Given the description of an element on the screen output the (x, y) to click on. 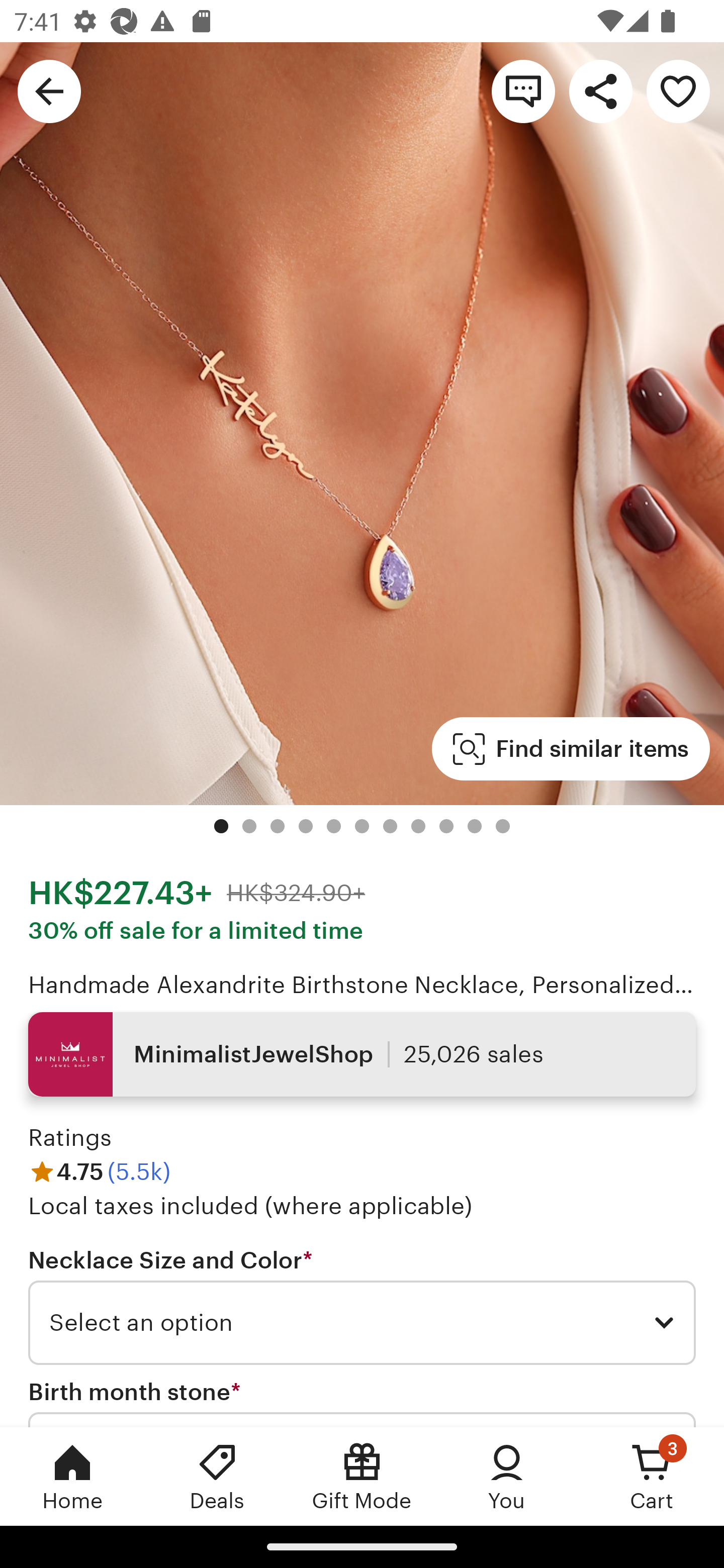
Navigate up (49, 90)
Contact shop (523, 90)
Share (600, 90)
Find similar items (571, 748)
MinimalistJewelShop 25,026 sales (361, 1054)
Ratings (70, 1137)
4.75 (5.5k) (99, 1171)
Select an option (361, 1323)
Birth month stone * Required Select an option (361, 1402)
Deals (216, 1475)
Gift Mode (361, 1475)
You (506, 1475)
Cart, 3 new notifications Cart (651, 1475)
